Given the description of an element on the screen output the (x, y) to click on. 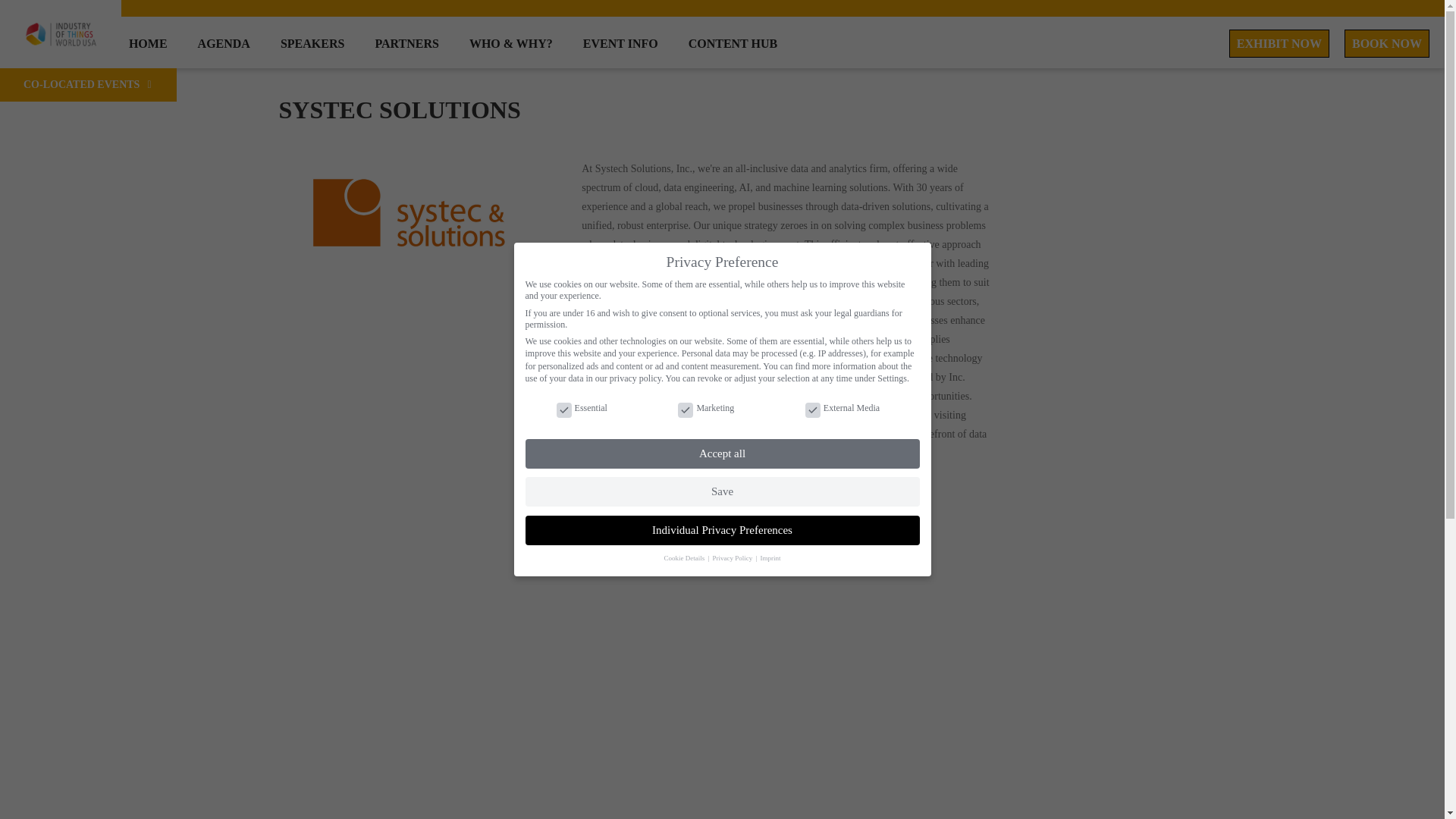
BOOK NOW (1386, 42)
EVENT INFO (619, 42)
PARTNERS (405, 42)
SPEAKERS (311, 42)
HOME (148, 42)
CONTENT HUB (732, 42)
EXHIBIT NOW (1278, 42)
AGENDA (223, 42)
Systec Solutions (400, 109)
